Given the description of an element on the screen output the (x, y) to click on. 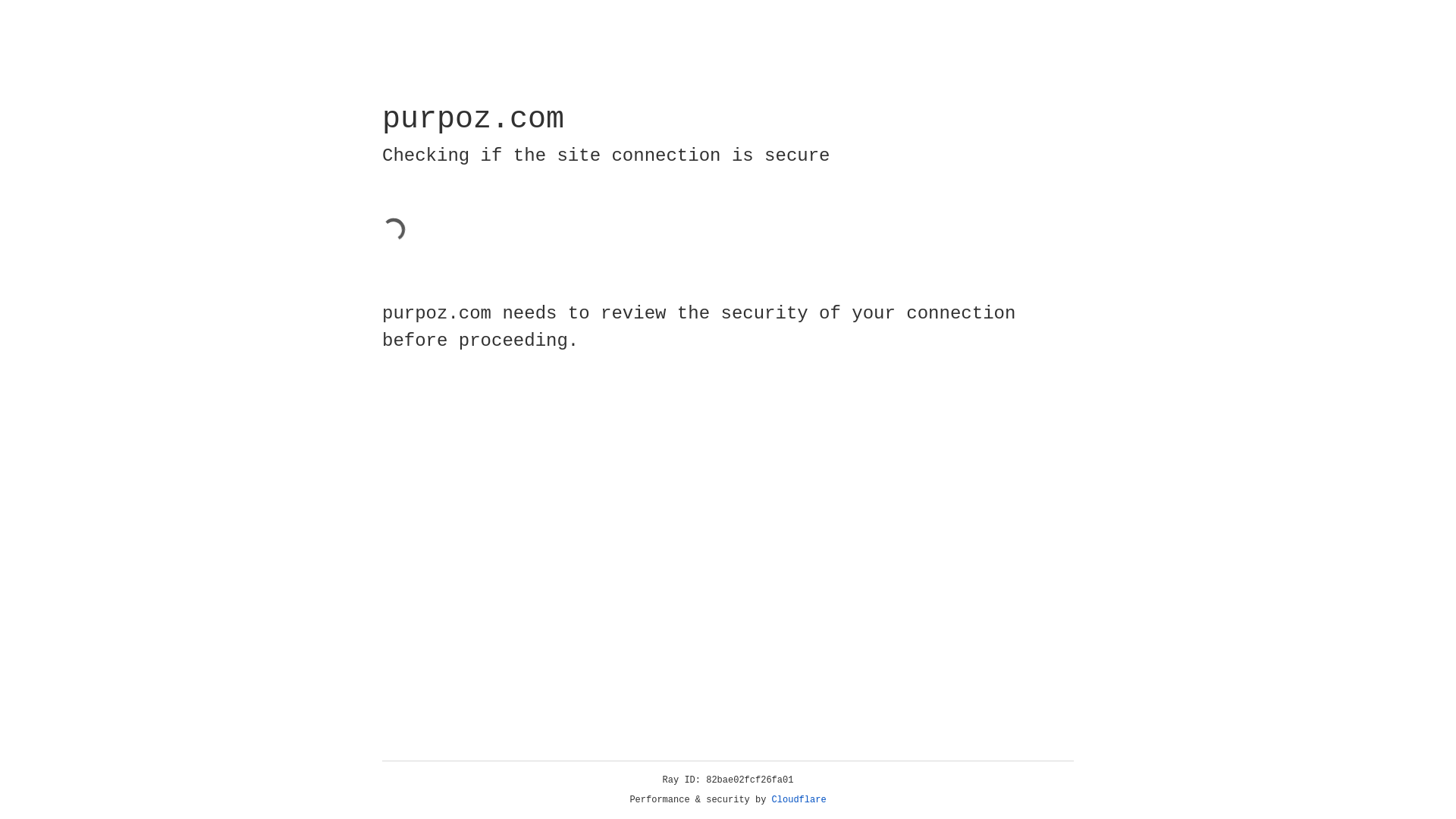
Cloudflare Element type: text (798, 799)
